Given the description of an element on the screen output the (x, y) to click on. 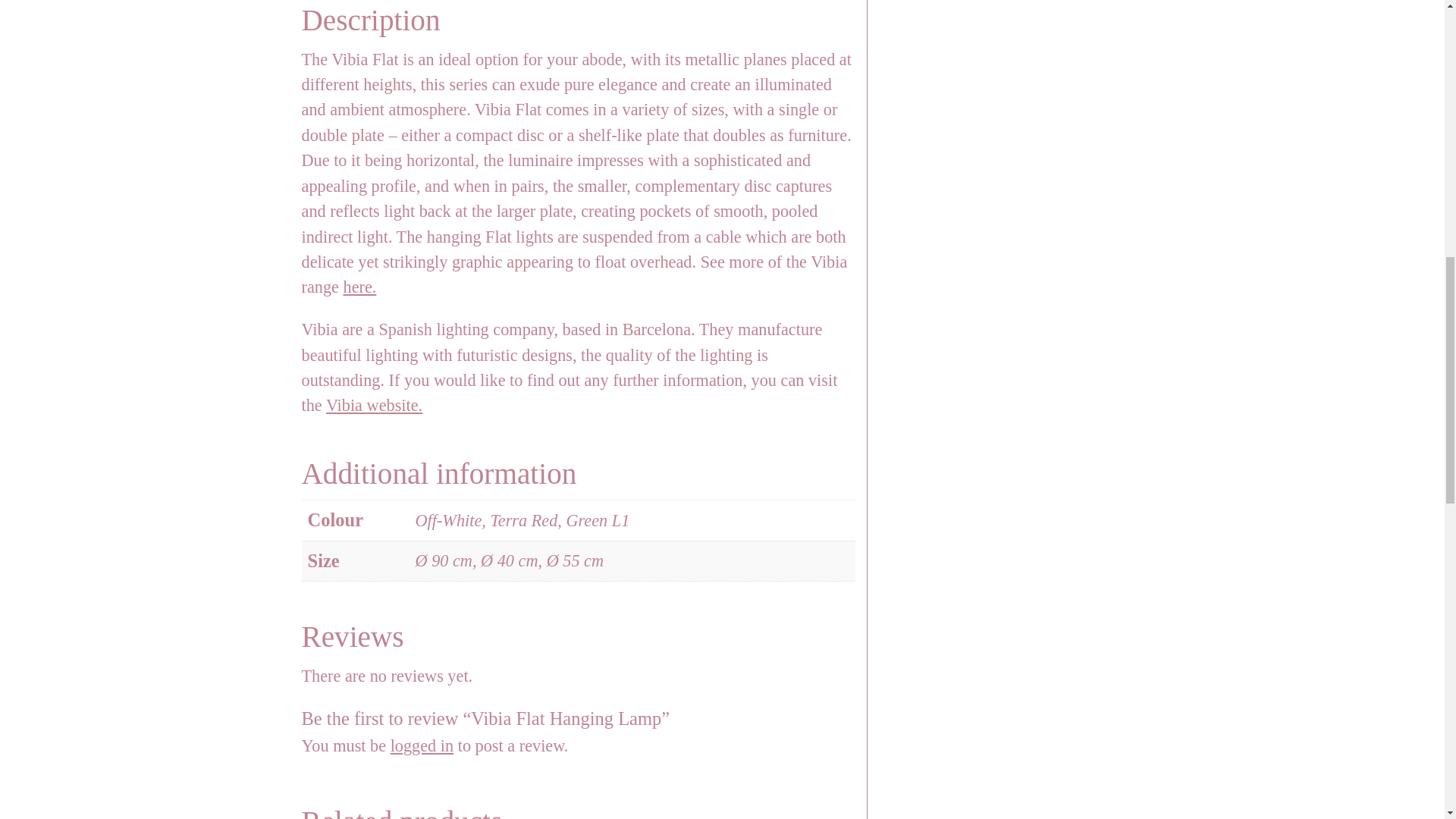
logged in (422, 745)
Vibia website. (374, 404)
here. (360, 286)
